Given the description of an element on the screen output the (x, y) to click on. 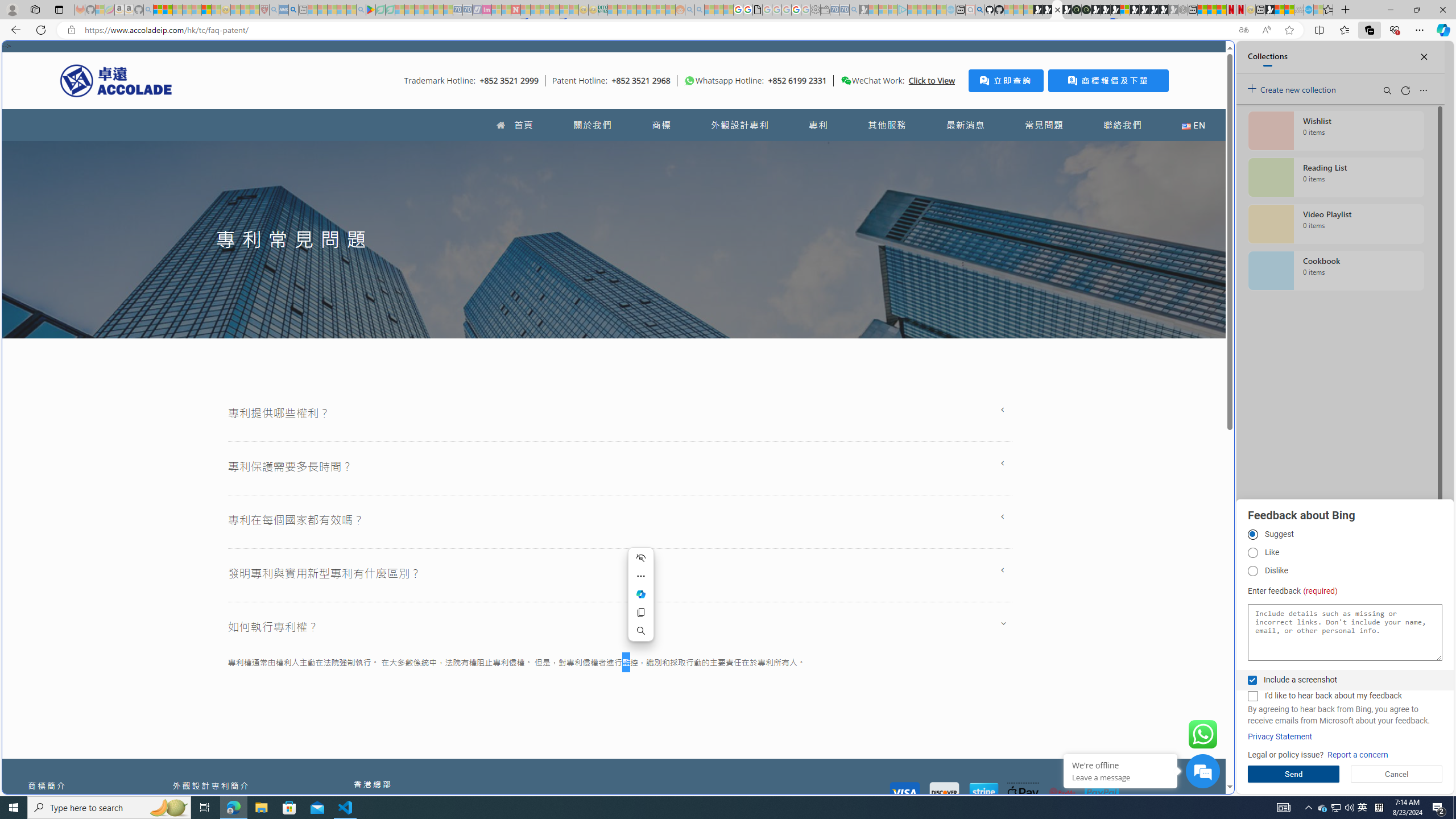
Report a concern (1358, 755)
MSN (1118, 536)
Show translate options (1243, 29)
